Given the description of an element on the screen output the (x, y) to click on. 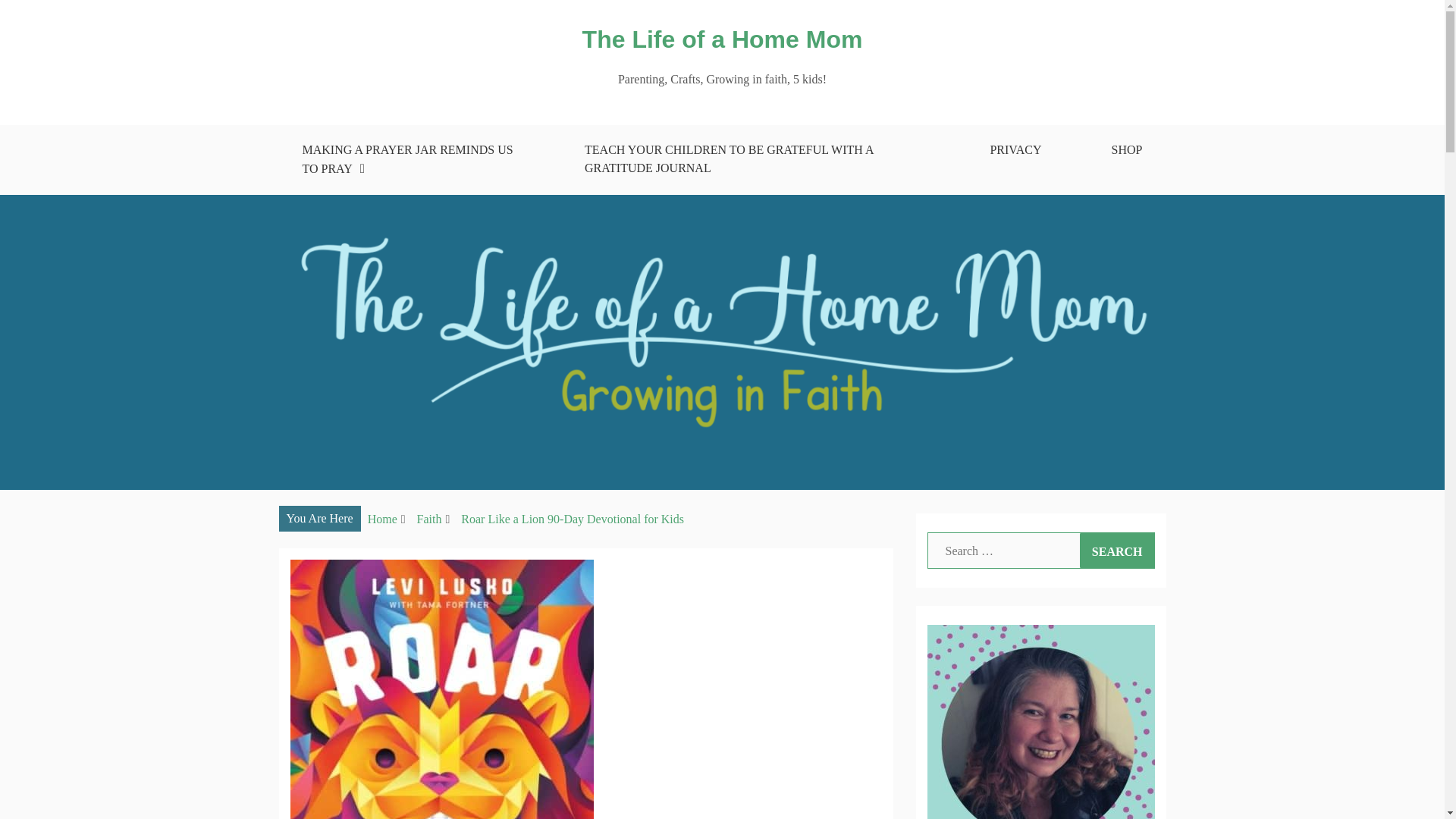
PRIVACY (1015, 150)
MAKING A PRAYER JAR REMINDS US TO PRAY (408, 159)
Eliza Ferree - The Life of a Home Mom (1040, 721)
Faith (429, 518)
Roar Like a Lion 90-Day Devotional for Kids (572, 518)
Home (382, 518)
SHOP (1127, 150)
TEACH YOUR CHILDREN TO BE GRATEFUL WITH A GRATITUDE JOURNAL (752, 159)
Search (1117, 550)
Search (1117, 550)
